Given the description of an element on the screen output the (x, y) to click on. 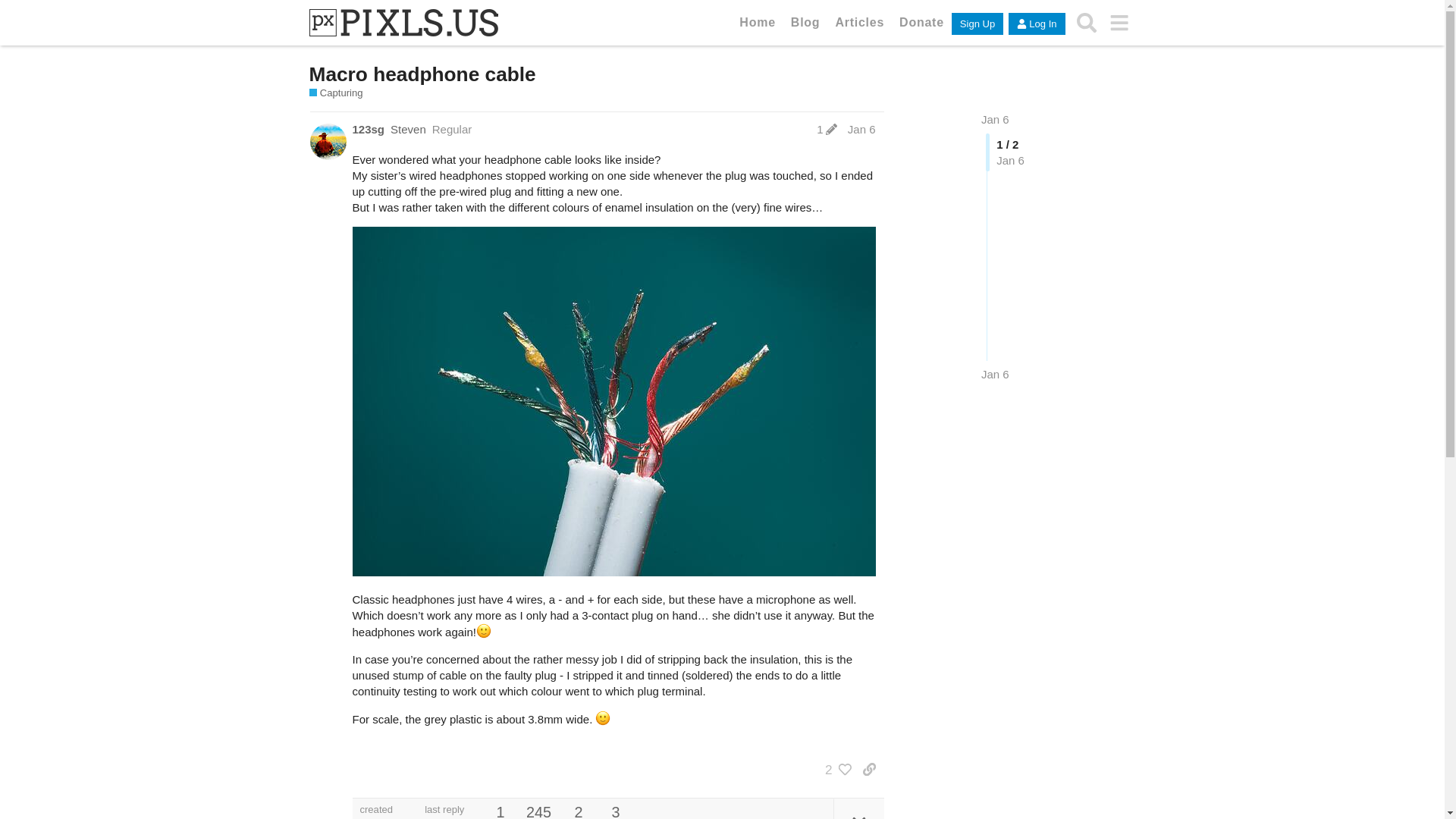
Sign Up (977, 24)
PIXLS.US Articles (859, 21)
2 (833, 769)
123sg (368, 129)
PIXLS.US Blog (805, 21)
Help support the site and projects (921, 21)
2 people liked this post (833, 769)
Steven (408, 128)
Back to the PIXLS.US website (757, 21)
Jan 6 (995, 119)
Jan 6 (995, 374)
Jan 6, 2024 9:21 pm (995, 373)
Jan 6 (995, 119)
Blog (805, 21)
Capturing (335, 92)
